Given the description of an element on the screen output the (x, y) to click on. 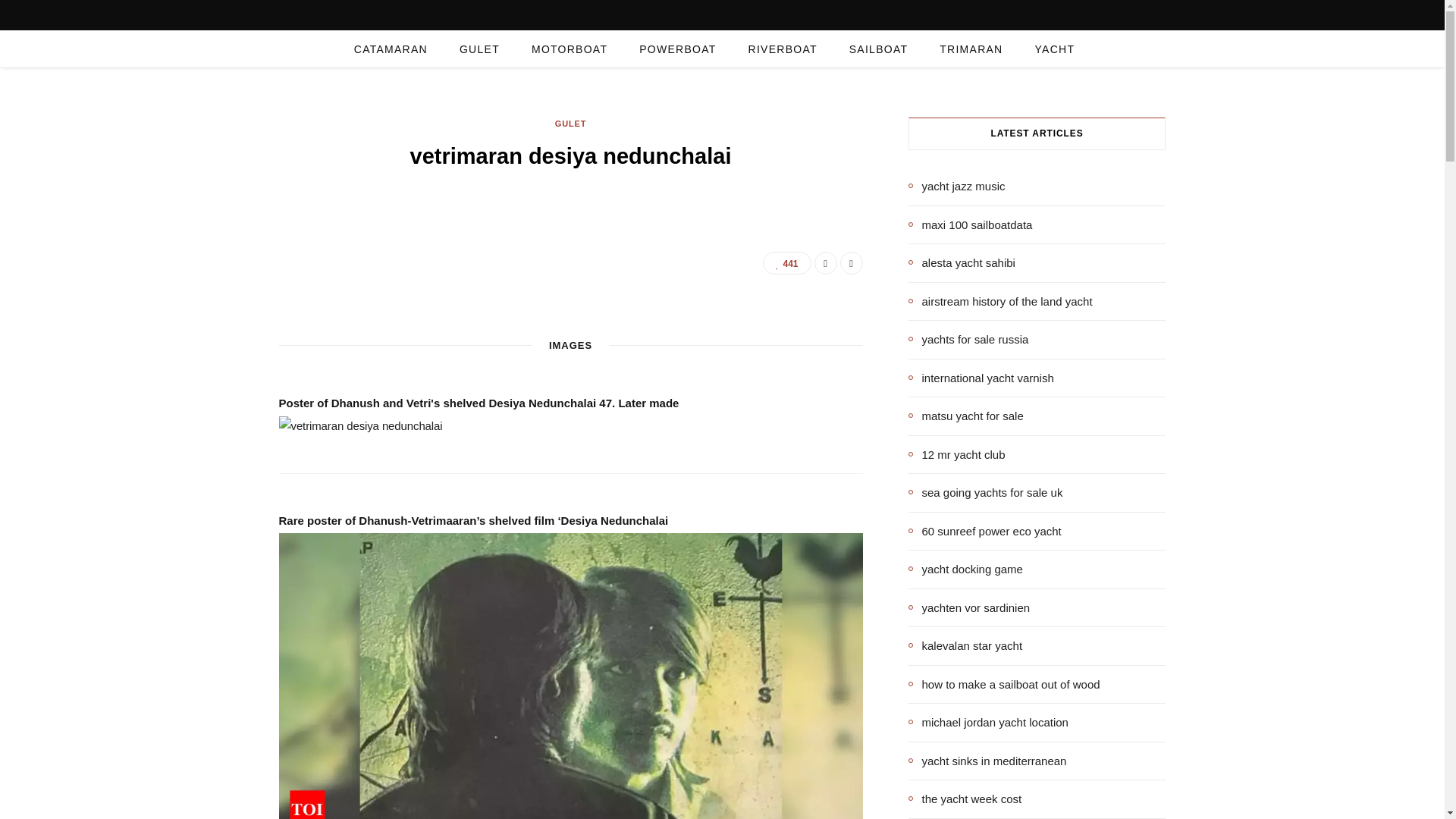
yacht jazz music (957, 186)
Share on Facebook (825, 262)
POWERBOAT (677, 48)
yacht docking game (965, 569)
alesta yacht sahibi (961, 262)
Share on Twitter (851, 262)
sea going yachts for sale uk (985, 492)
GULET (570, 123)
matsu yacht for sale (965, 415)
kalevalan star yacht (965, 646)
international yacht varnish (981, 378)
yacht sinks in mediterranean (987, 760)
MOTORBOAT (569, 48)
SAILBOAT (878, 48)
how to make a sailboat out of wood (1004, 684)
